Given the description of an element on the screen output the (x, y) to click on. 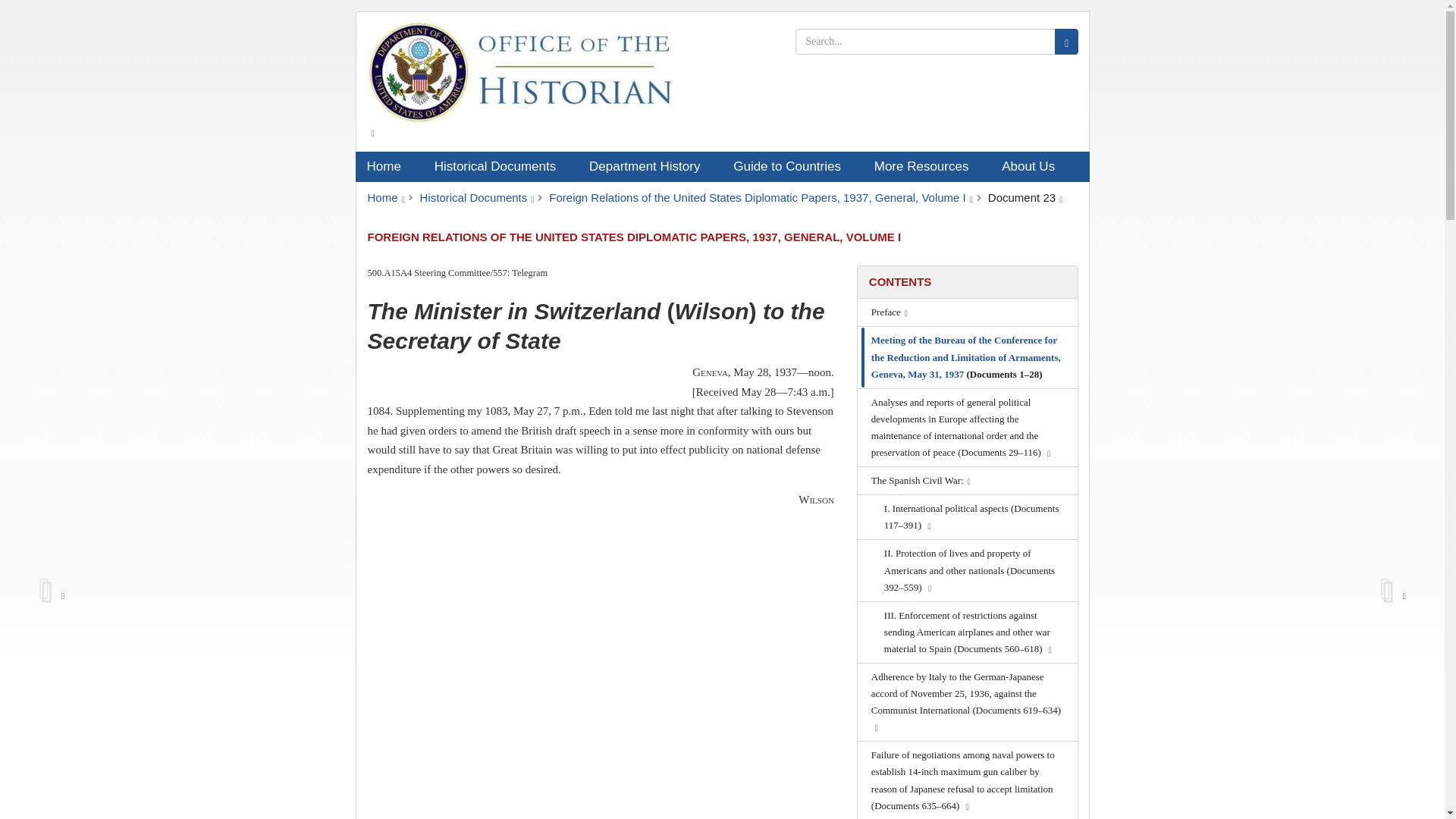
Guide to Countries (792, 166)
Historical Documents (500, 166)
Document 23 (1025, 196)
More Resources (926, 166)
Home (385, 196)
Home (388, 166)
Historical Documents (477, 196)
About Us (1033, 166)
Department History (650, 166)
